Given the description of an element on the screen output the (x, y) to click on. 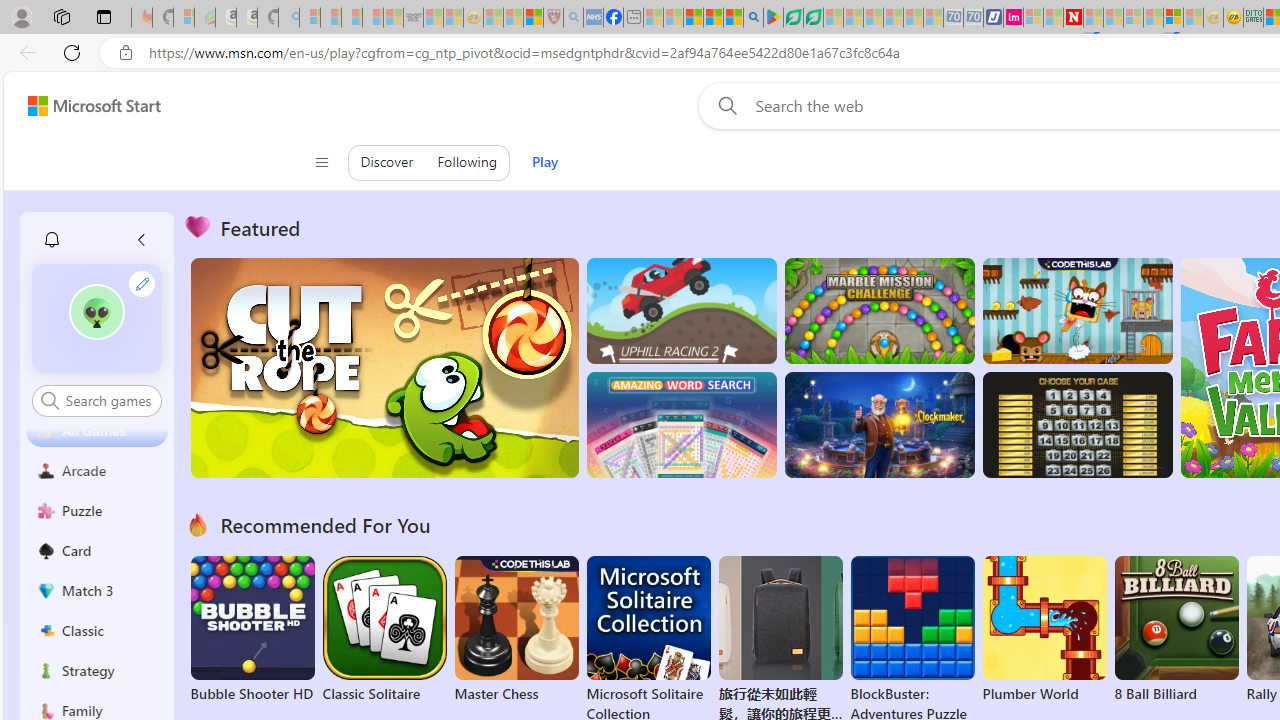
""'s avatar (97, 318)
AutomationID: control (108, 400)
""'s avatar (96, 312)
